Given the description of an element on the screen output the (x, y) to click on. 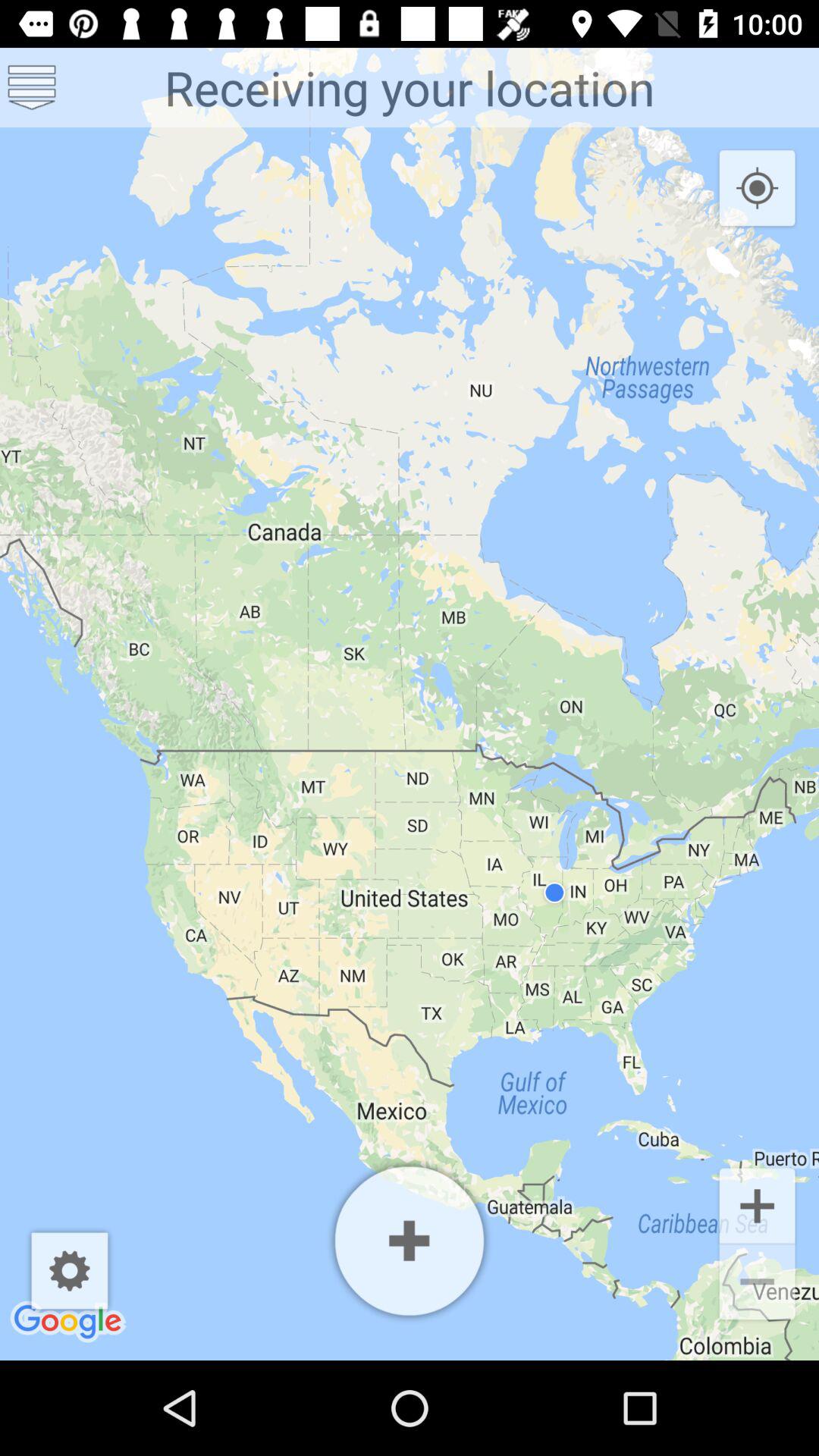
open app below receiving your location (757, 188)
